Given the description of an element on the screen output the (x, y) to click on. 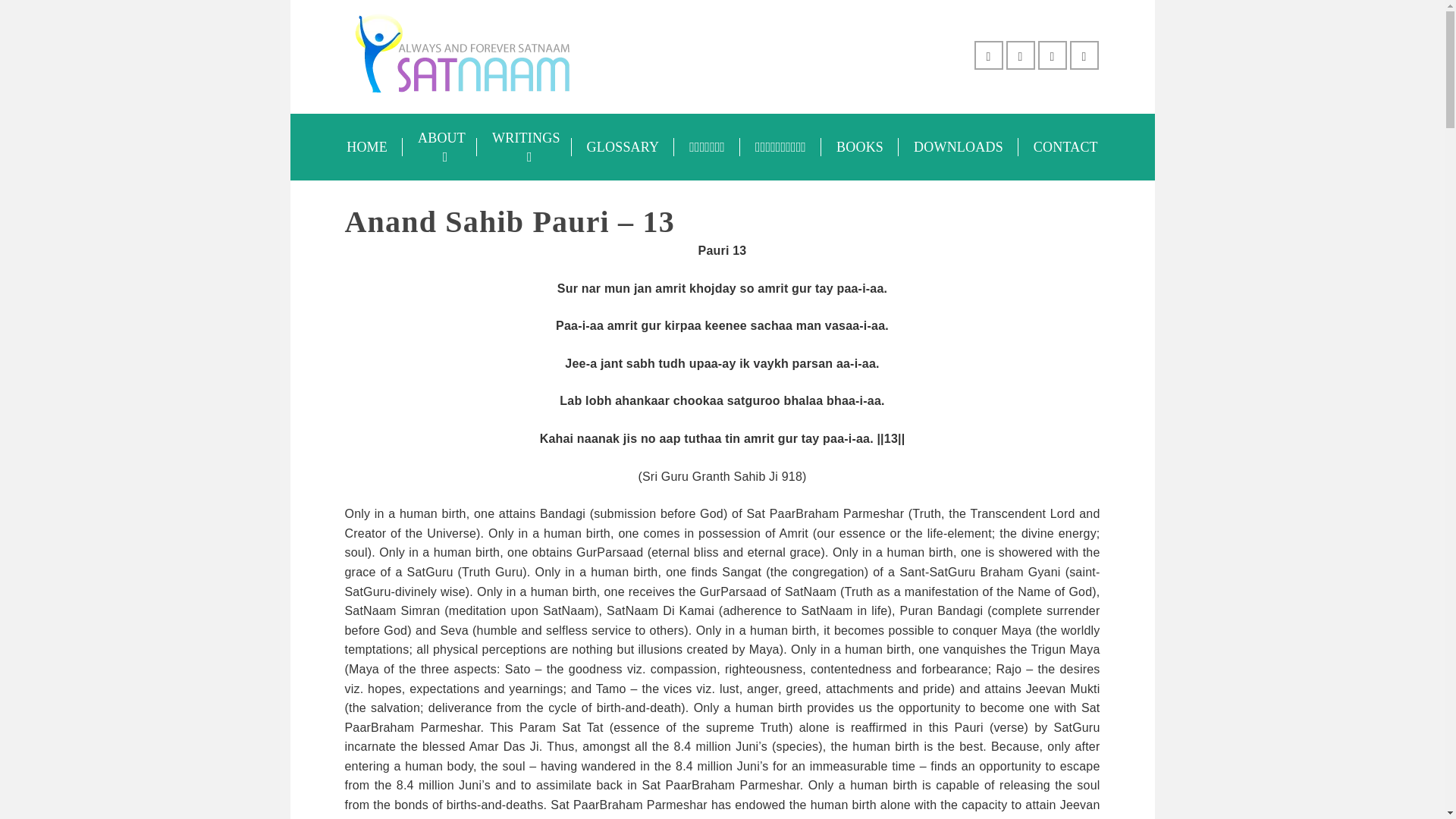
WRITINGS (524, 146)
ABOUT (440, 146)
GLOSSARY (623, 146)
DOWNLOADS (957, 146)
BOOKS (859, 146)
HOME (367, 146)
CONTACT (1065, 146)
